Given the description of an element on the screen output the (x, y) to click on. 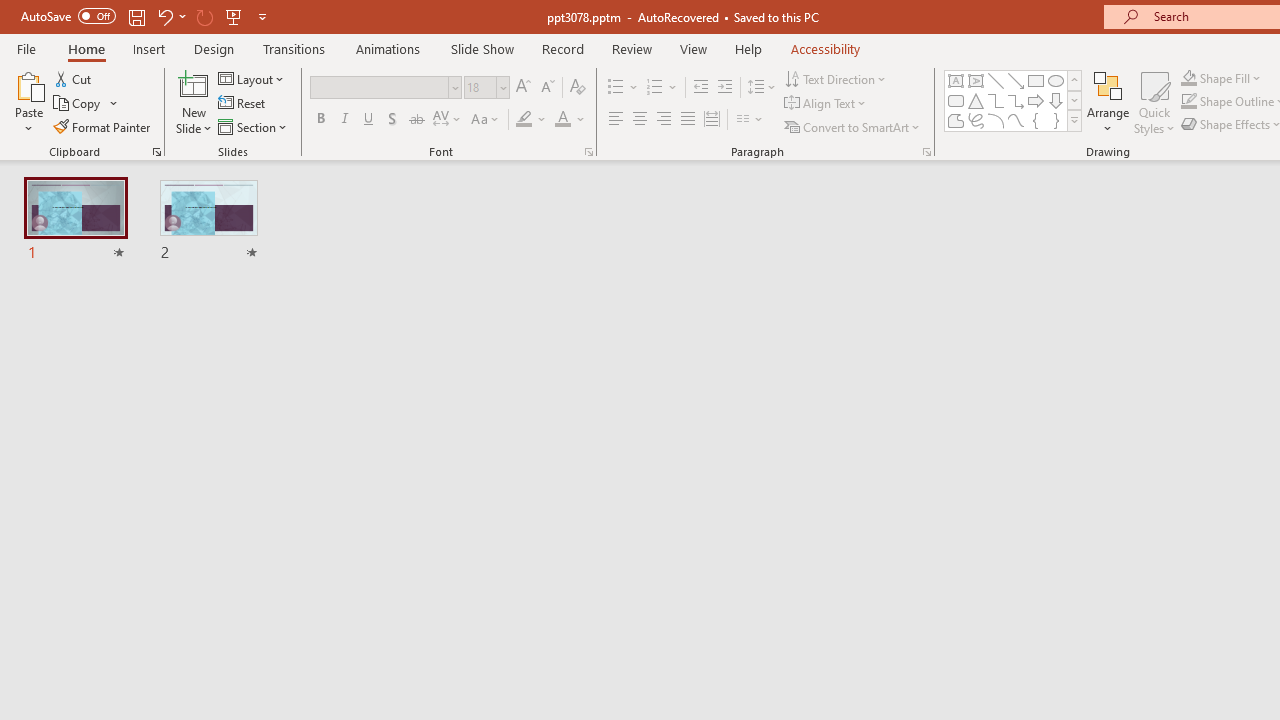
Shape Fill Dark Green, Accent 2 (1188, 78)
